Given the description of an element on the screen output the (x, y) to click on. 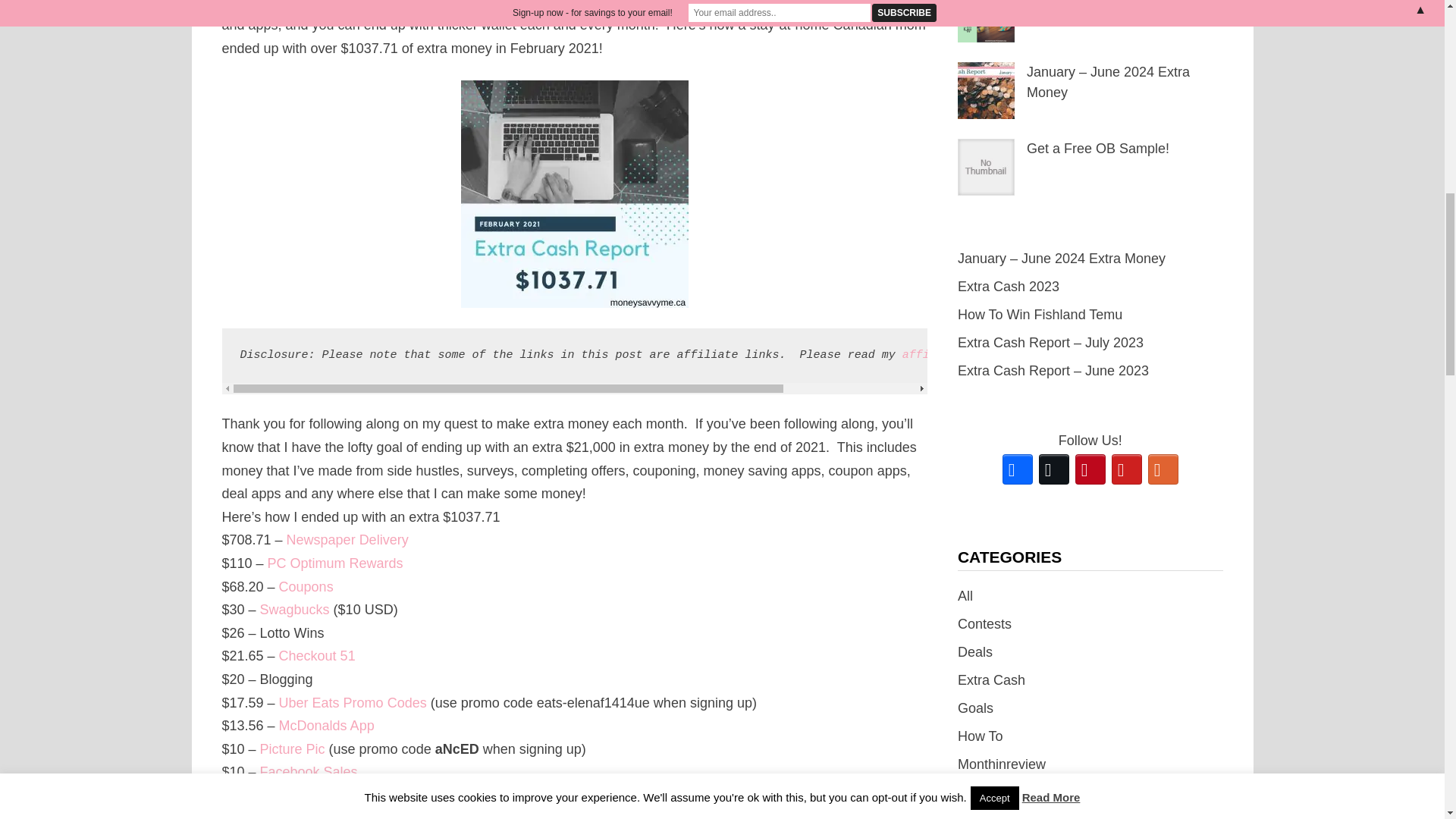
McDonalds App (326, 725)
Coupons (306, 586)
Newspaper Delivery (347, 539)
Checkout 51 (317, 655)
affiliate disclosure here (987, 354)
Uber Eats Promo Codes (352, 702)
PC Optimum Rewards (335, 563)
Picture Pic  (294, 749)
Facebook Sales (309, 771)
Swagbucks (295, 609)
